Given the description of an element on the screen output the (x, y) to click on. 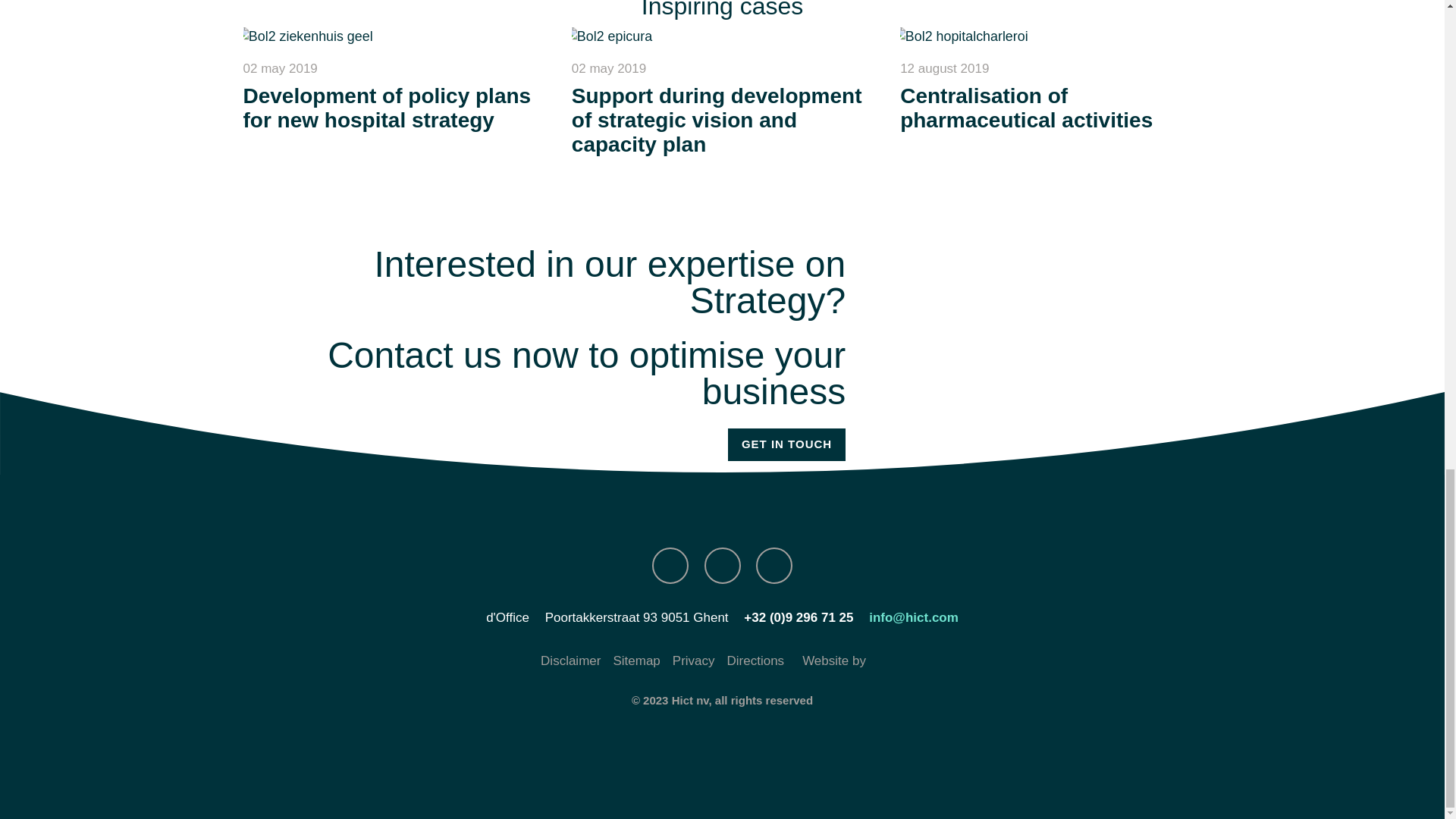
Development of policy plans for new hospital strategy (393, 36)
Centralisation of pharmaceutical activities (1026, 107)
Development of policy plans for new hospital strategy (387, 107)
Development of policy plans for new hospital strategy (387, 107)
Centralisation of pharmaceutical activities (1050, 36)
Get in touch (786, 444)
